Given the description of an element on the screen output the (x, y) to click on. 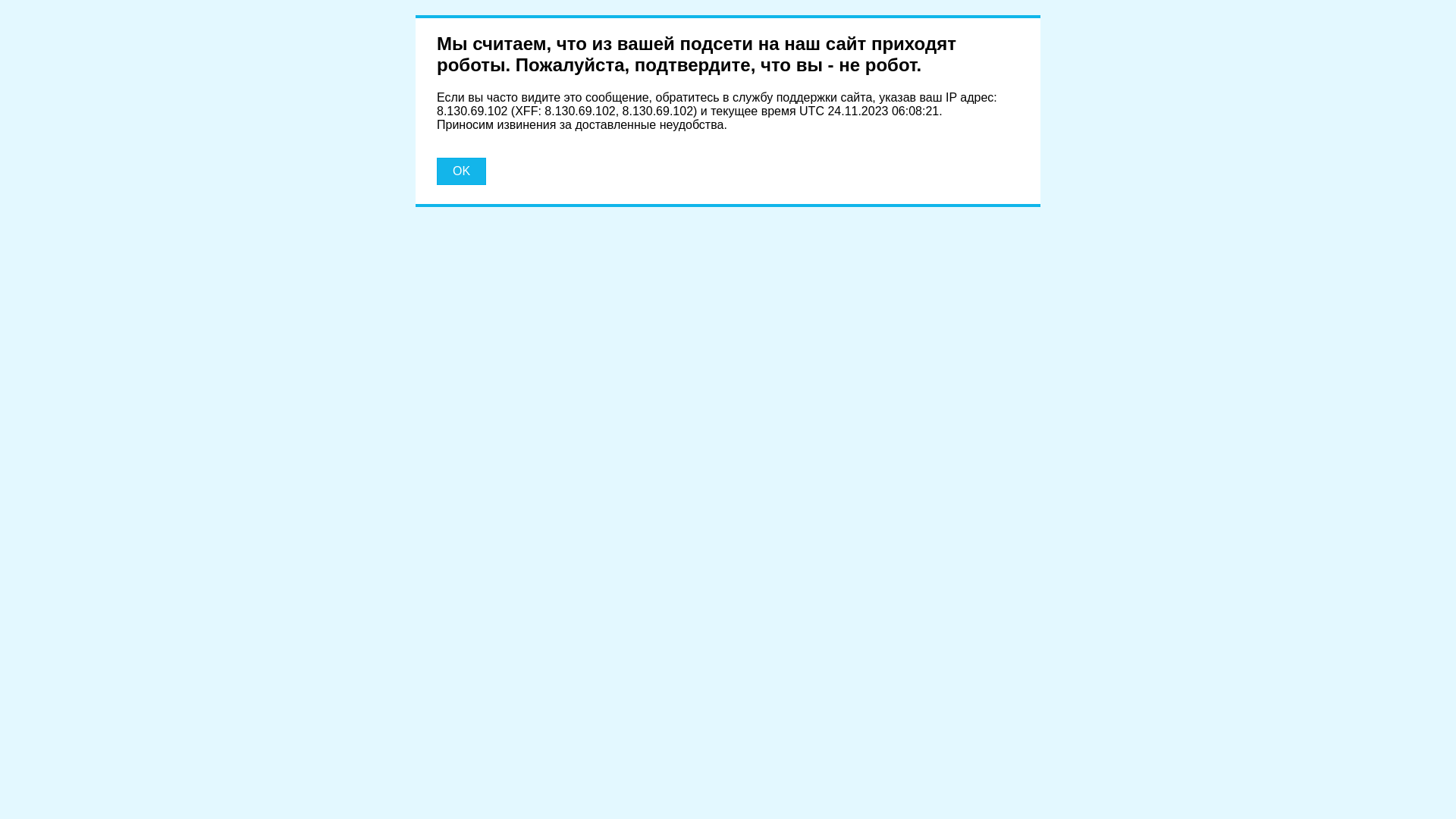
OK Element type: text (461, 171)
